Given the description of an element on the screen output the (x, y) to click on. 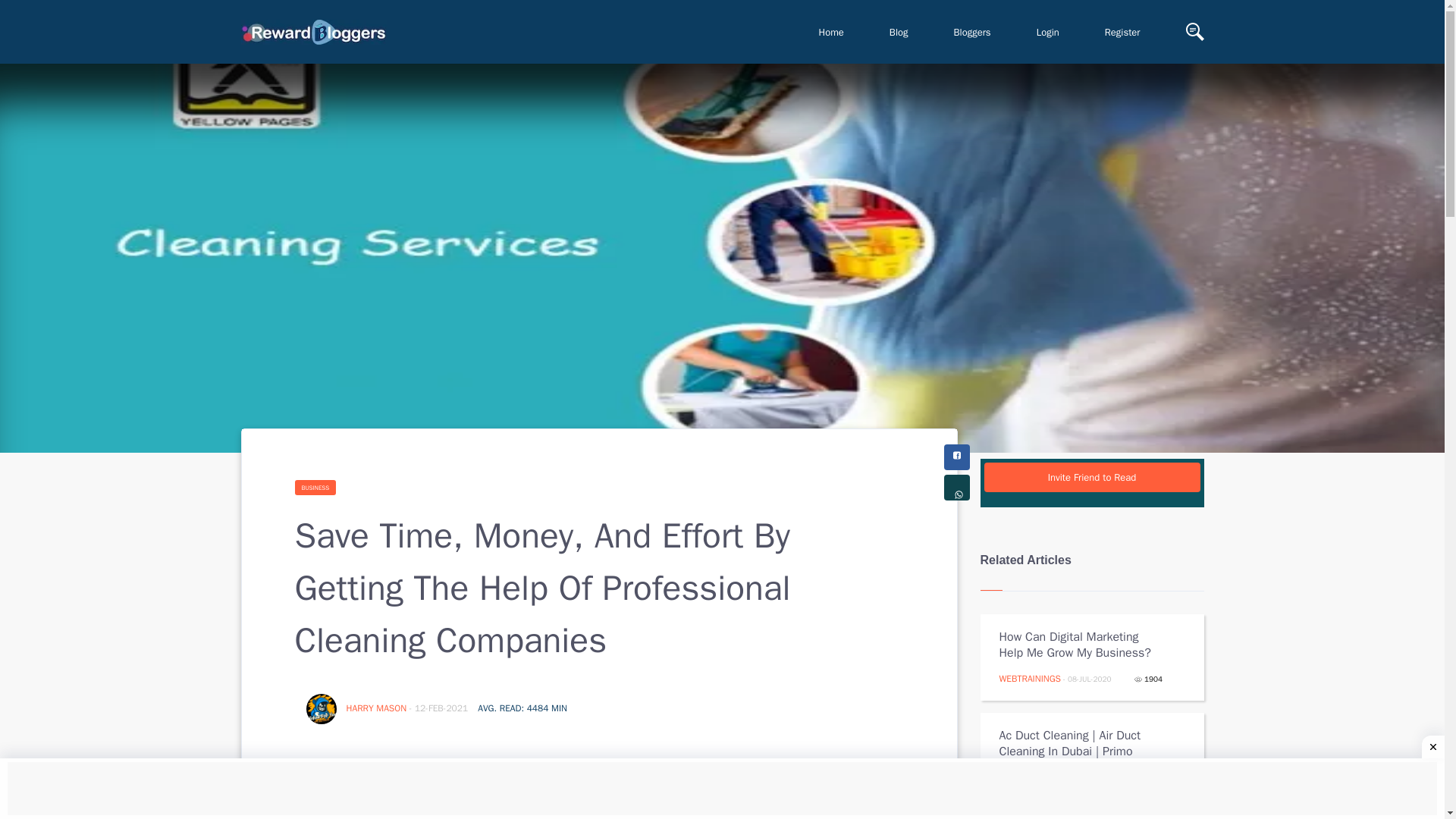
BUSINESS (315, 487)
How Can Digital Marketing Help Me Grow My Business? (1080, 644)
Login (1047, 31)
HARRY MASON (377, 707)
Blog (898, 31)
Invite Friend to Read (1091, 477)
PRIMO (1012, 776)
Bloggers (972, 31)
WEBTRAININGS (1029, 678)
Advertisement (722, 790)
